Given the description of an element on the screen output the (x, y) to click on. 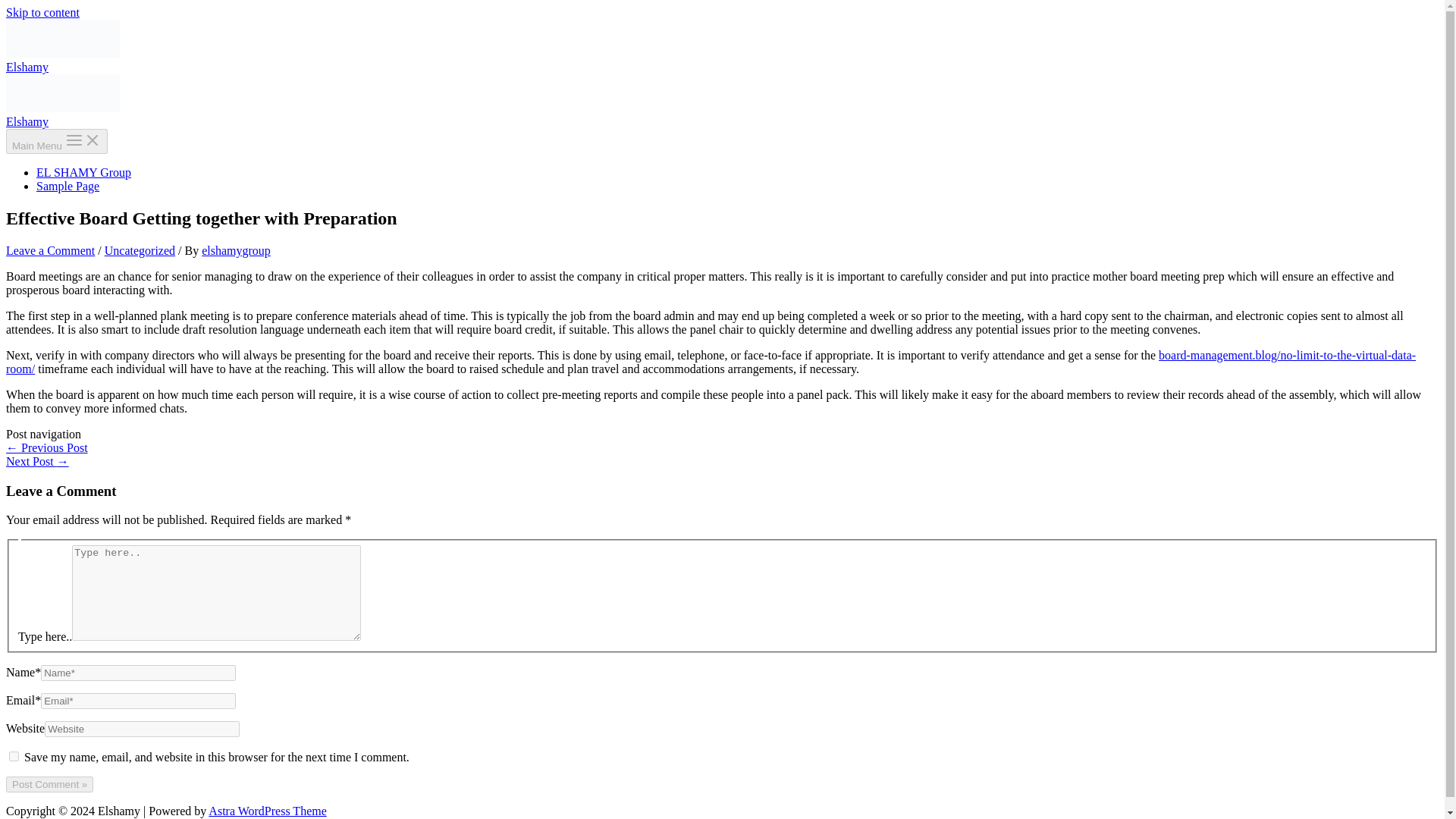
View all posts by elshamygroup (236, 250)
Elshamy (26, 121)
Uncategorized (139, 250)
Skip to content (42, 11)
Main Menu (56, 140)
Sample Page (67, 185)
Skip to content (42, 11)
elshamygroup (236, 250)
EL SHAMY Group (83, 172)
yes (13, 756)
Elshamy (26, 66)
Leave a Comment (49, 250)
